Given the description of an element on the screen output the (x, y) to click on. 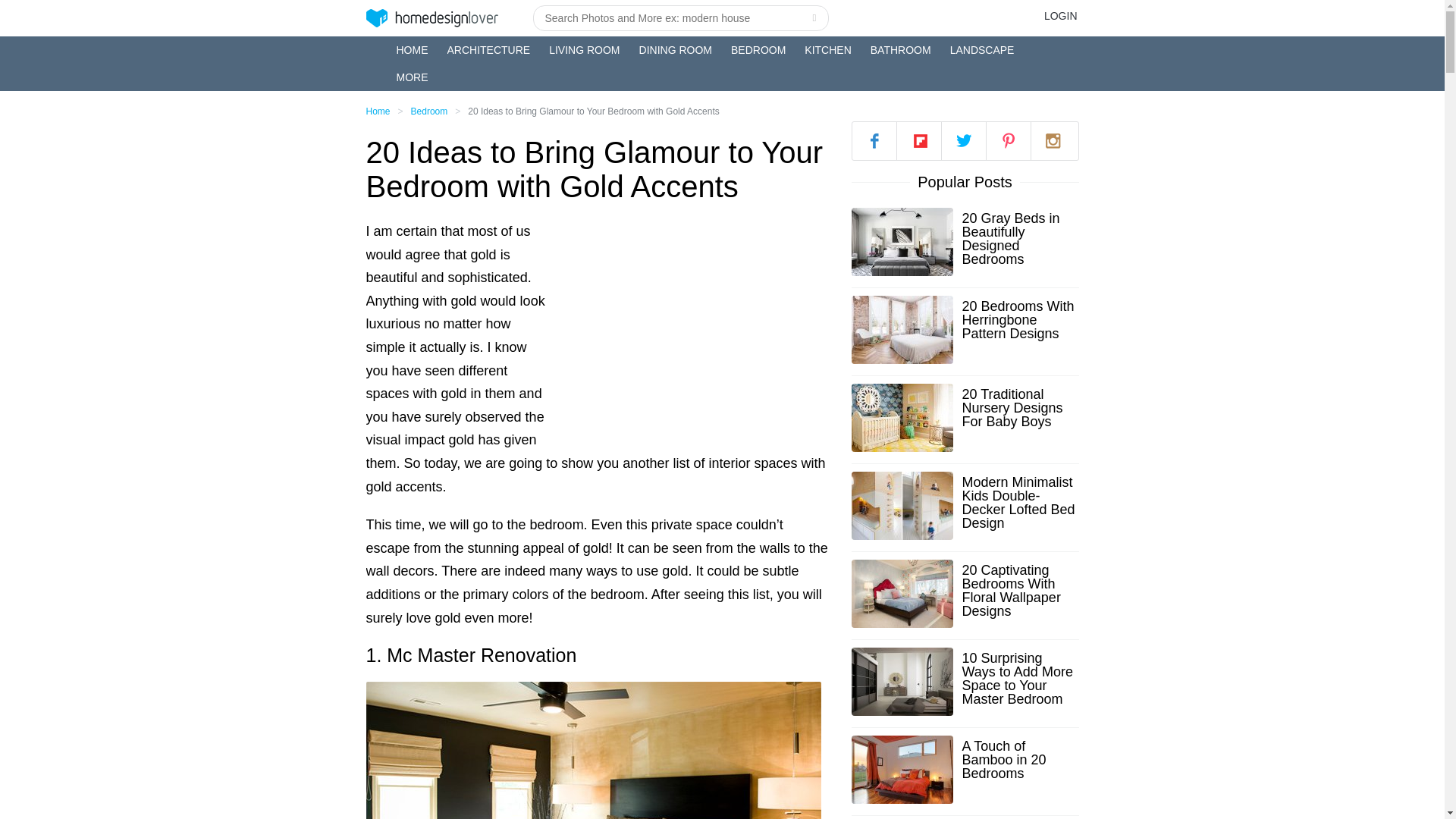
LOGIN (1060, 15)
A Touch of Bamboo in 20 Bedrooms (1019, 759)
BEDROOM (758, 49)
10 Surprising Ways to Add More Space to Your Master Bedroom (1019, 678)
20 Traditional Nursery Designs For Baby Boys (1019, 407)
LANDSCAPE (982, 49)
MORE (412, 76)
KITCHEN (827, 49)
HOME (412, 49)
LIVING ROOM (584, 49)
